Given the description of an element on the screen output the (x, y) to click on. 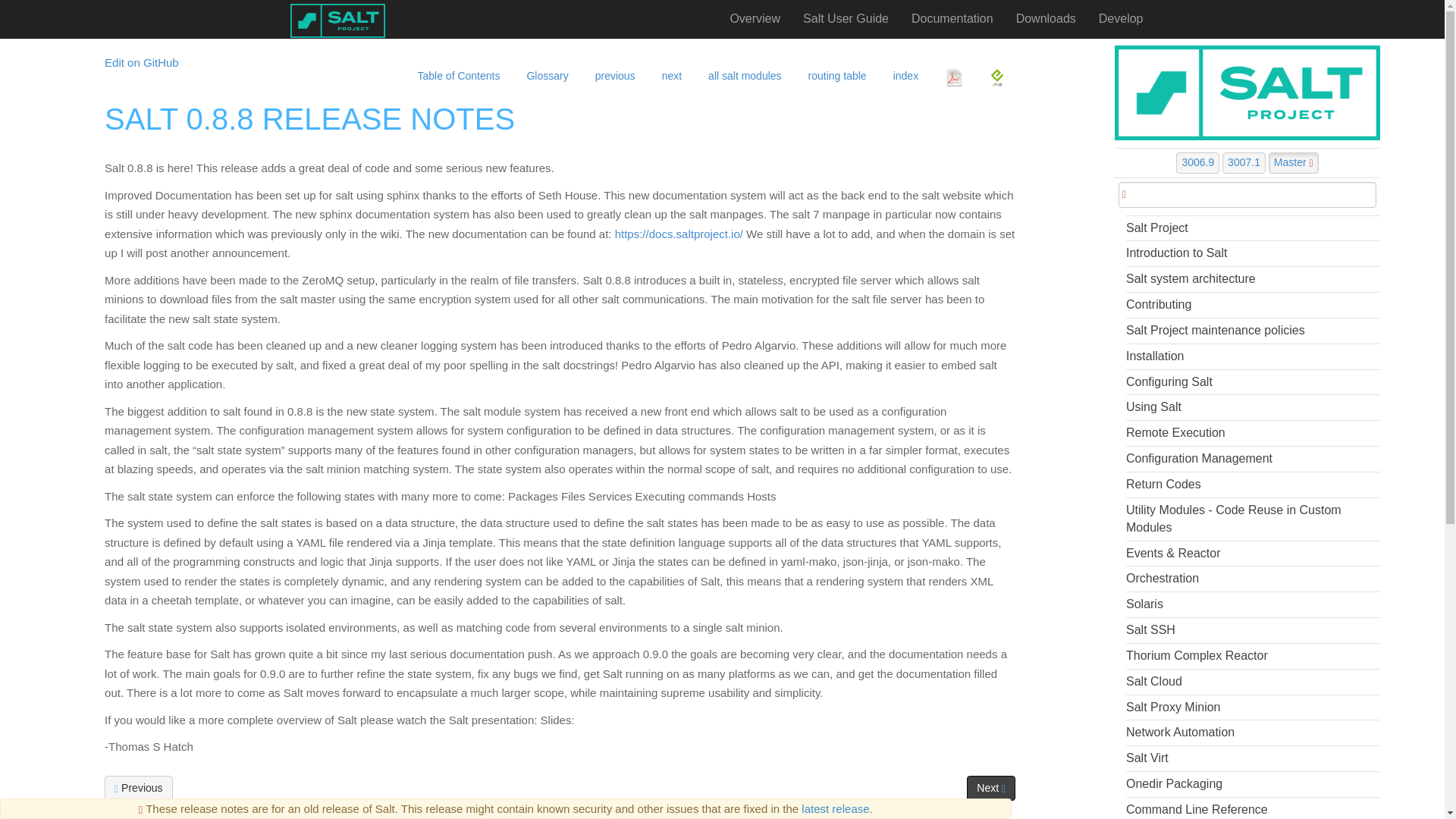
Salt system architecture (1252, 278)
Glossary (545, 71)
index (903, 71)
all salt modules (743, 71)
Salt User Guide (845, 18)
Using Salt (1252, 406)
3006.9 (1198, 162)
Salt Project (1252, 227)
Salt Project maintenance policies (1252, 330)
Next (990, 787)
